Given the description of an element on the screen output the (x, y) to click on. 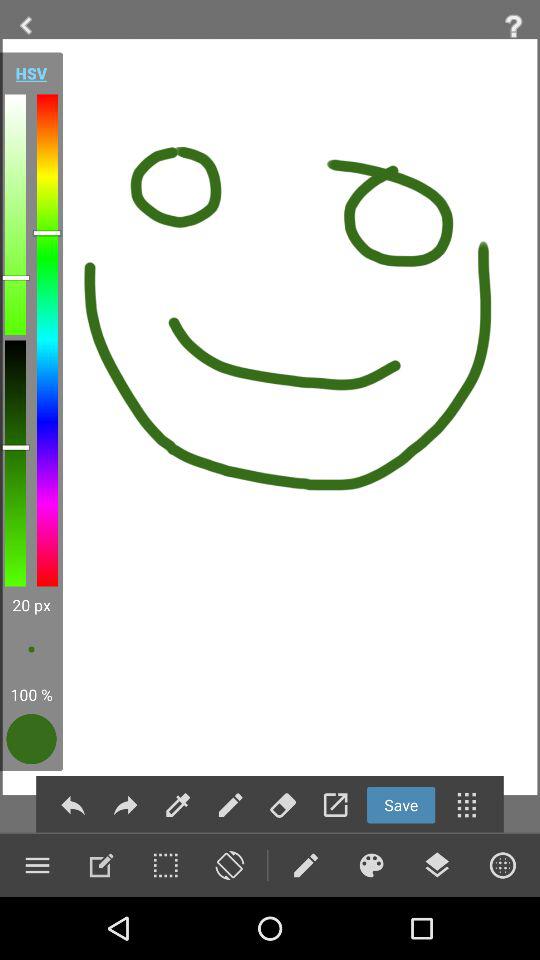
select eraser tool (282, 804)
